Given the description of an element on the screen output the (x, y) to click on. 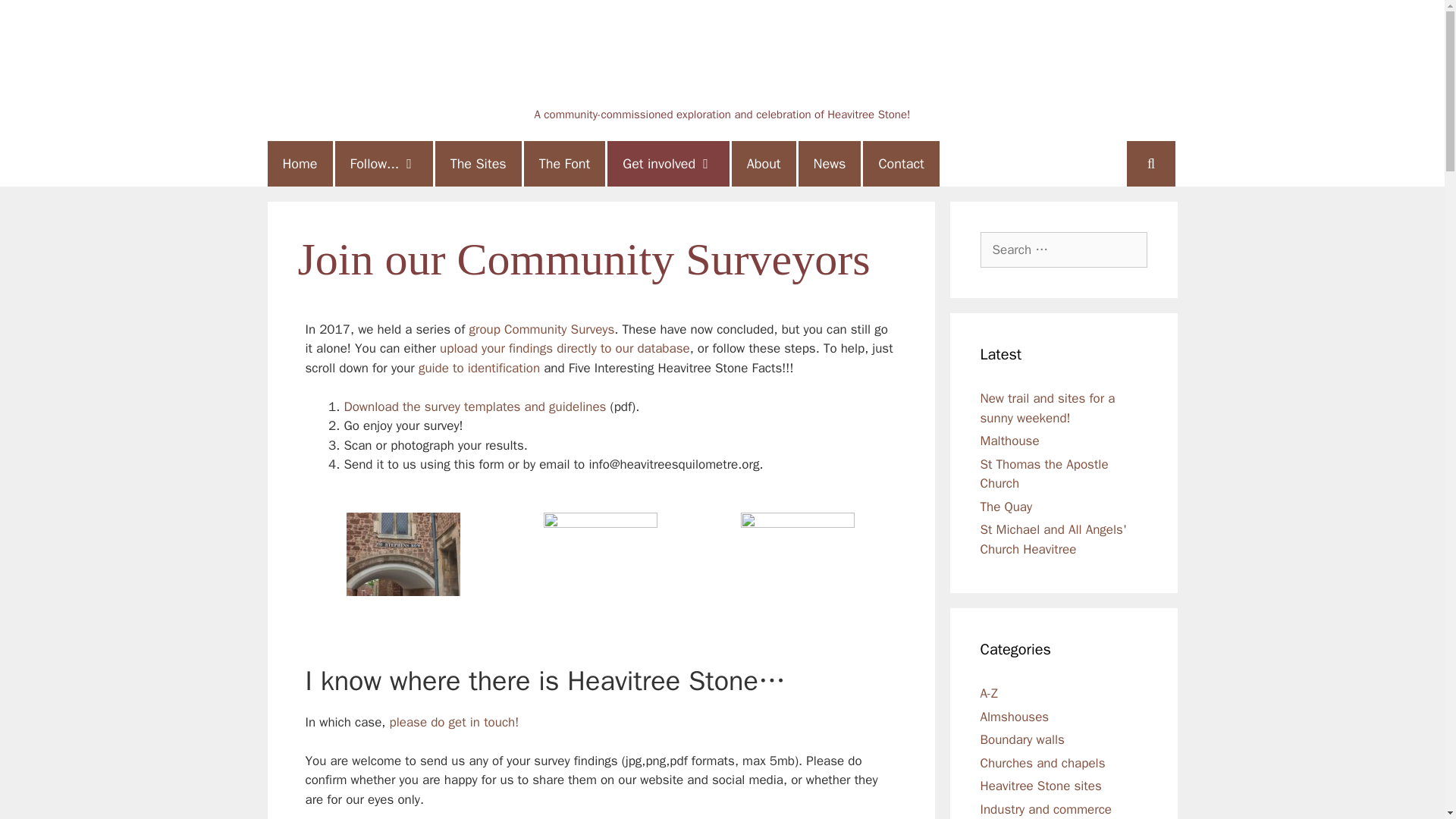
Get involved (668, 163)
Heavitree Quarry Trails (721, 60)
Follow... (383, 163)
Contact (901, 163)
upload your findings directly to our database (564, 348)
Home (298, 163)
group Community Surveys (541, 329)
Search (39, 18)
guide to identification (479, 367)
The Font (564, 163)
